Given the description of an element on the screen output the (x, y) to click on. 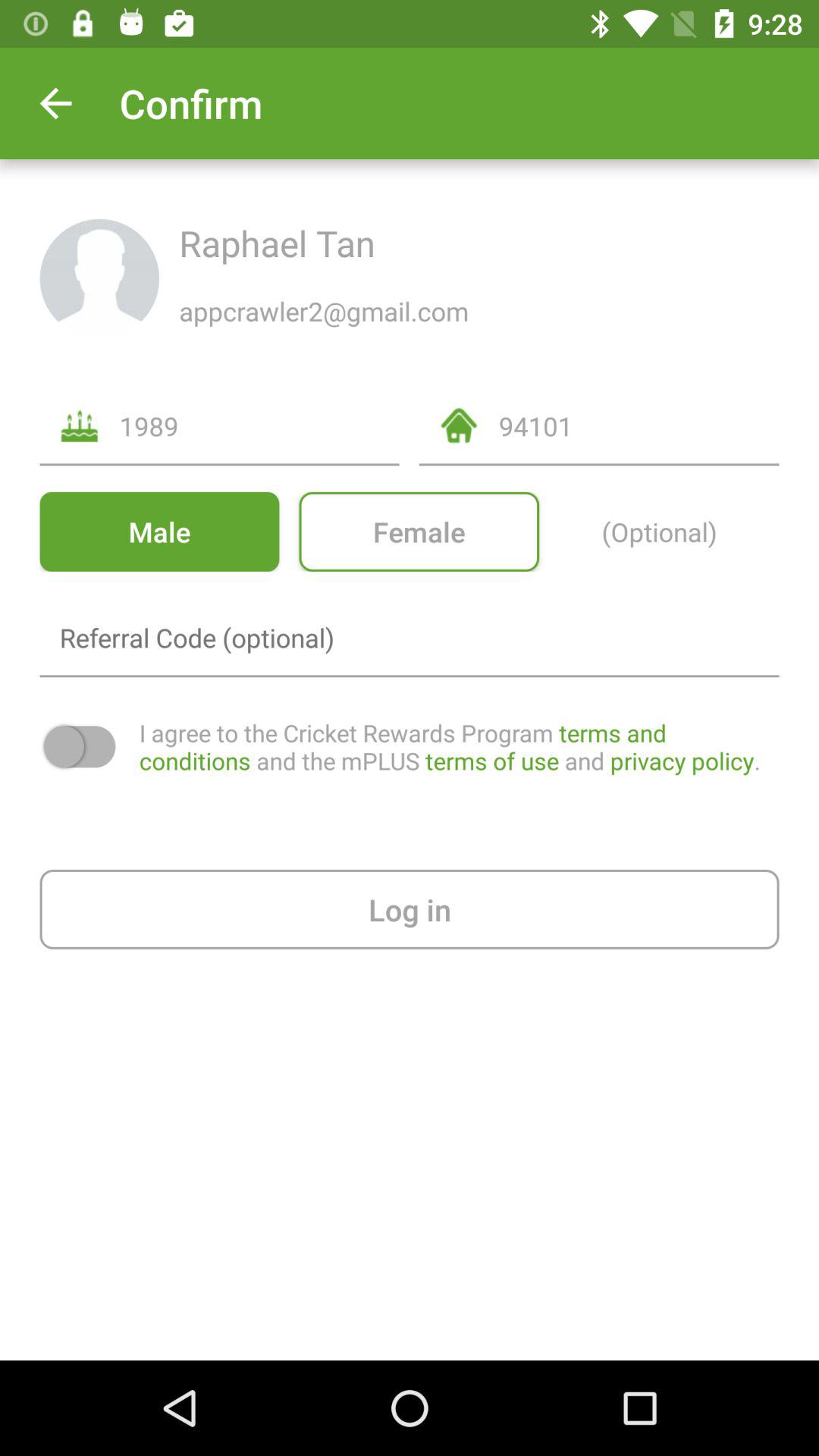
jump until the male icon (159, 531)
